Given the description of an element on the screen output the (x, y) to click on. 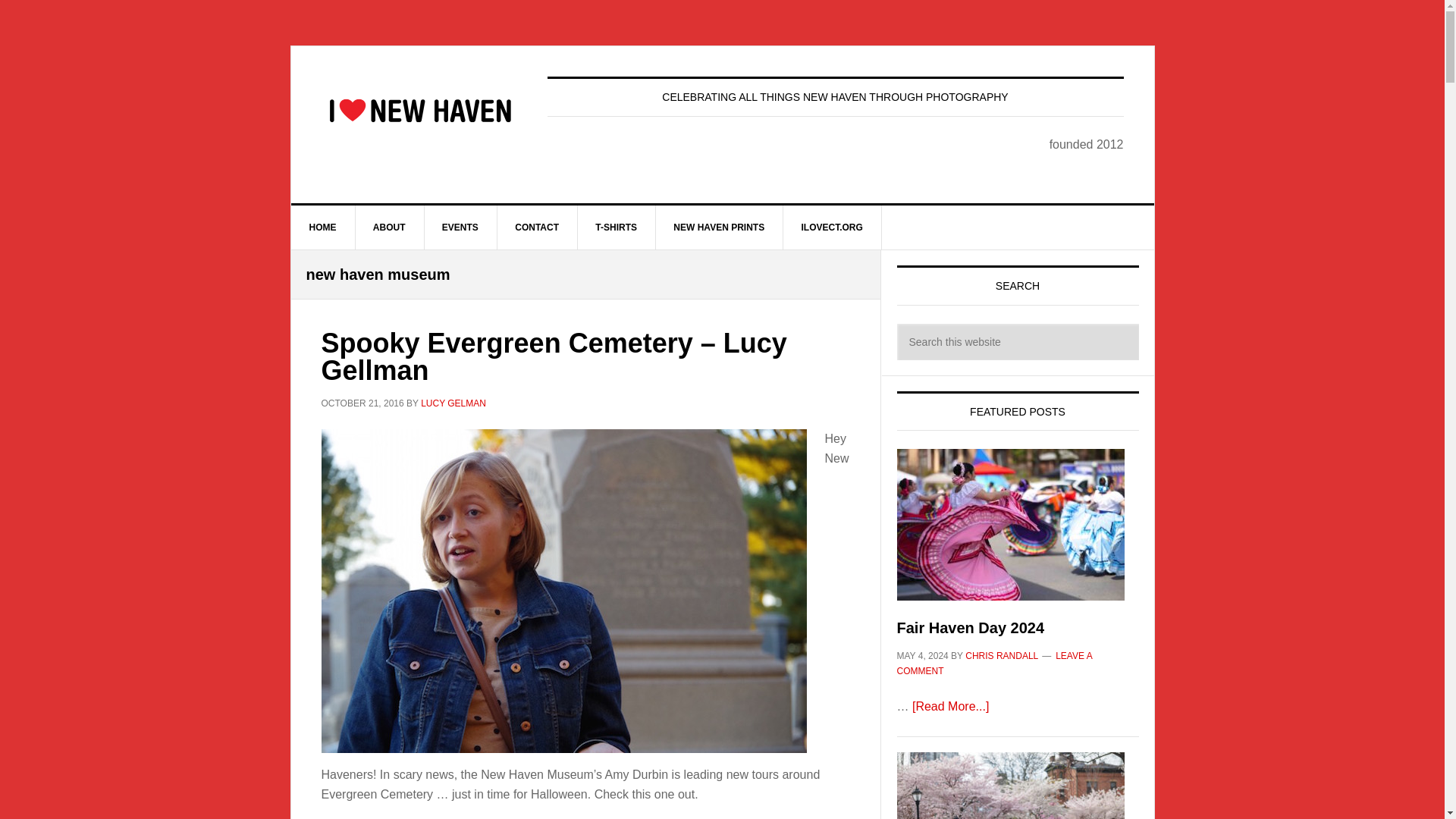
Fair Haven Day 2024 (969, 627)
T-SHIRTS (616, 227)
CONTACT (537, 227)
ILOVECT.ORG (831, 227)
EVENTS (460, 227)
HOME (323, 227)
LEAVE A COMMENT (993, 663)
CHRIS RANDALL (1001, 655)
I LOVE NEW HAVEN (419, 110)
NEW HAVEN PRINTS (719, 227)
LUCY GELMAN (453, 403)
ABOUT (390, 227)
